Given the description of an element on the screen output the (x, y) to click on. 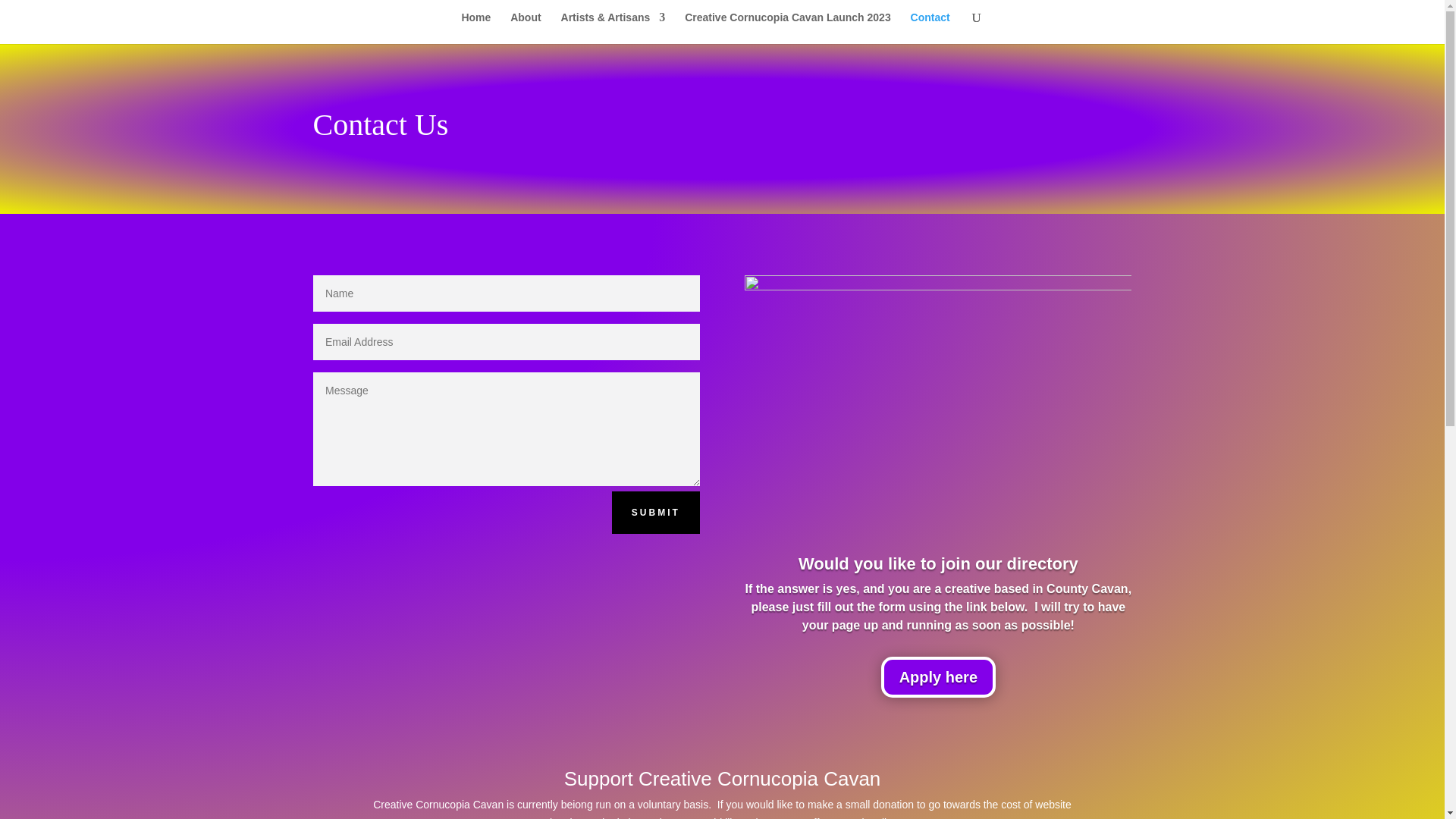
Home (475, 28)
About (525, 28)
